Given the description of an element on the screen output the (x, y) to click on. 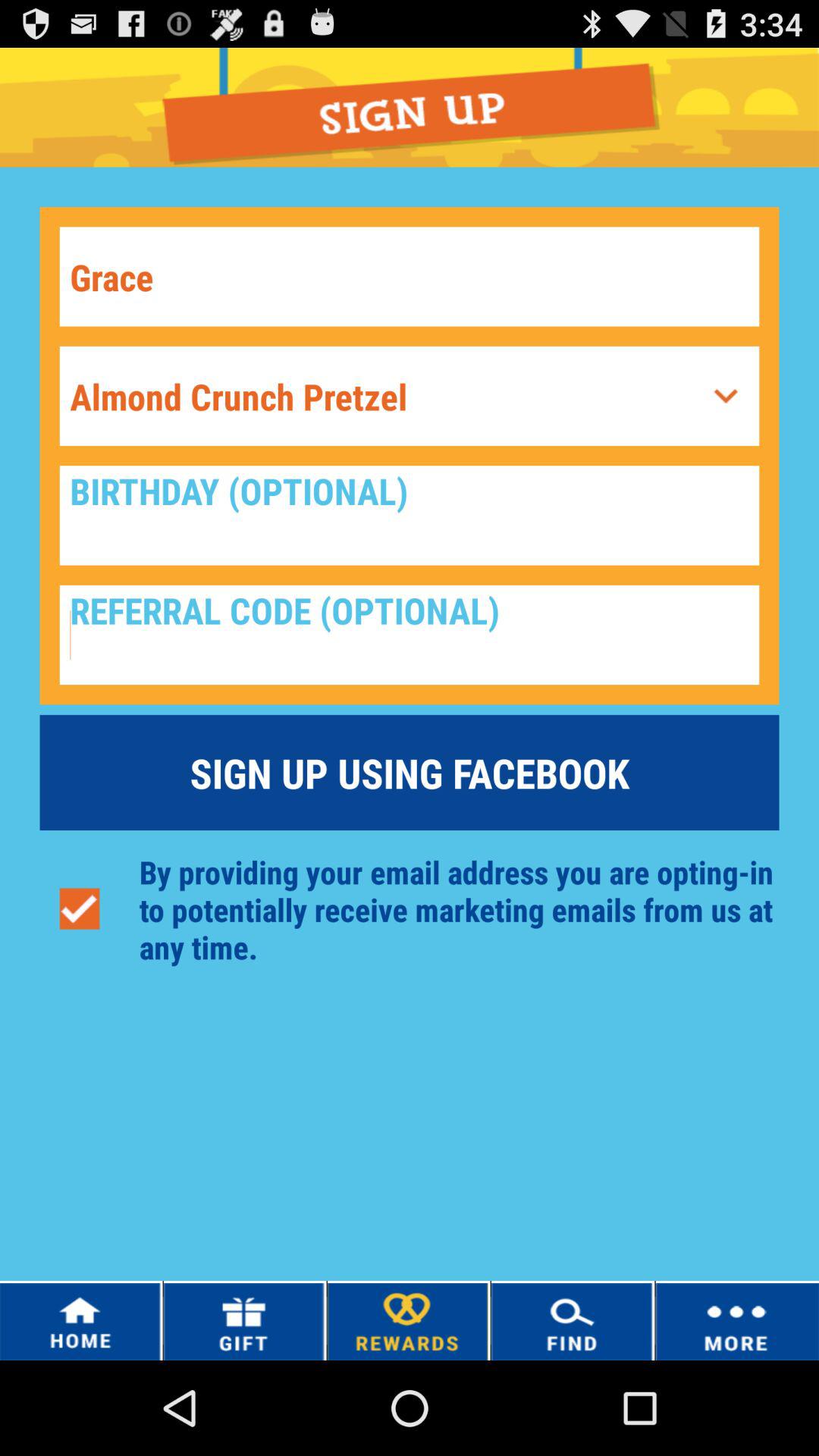
go to previous (725, 395)
